Given the description of an element on the screen output the (x, y) to click on. 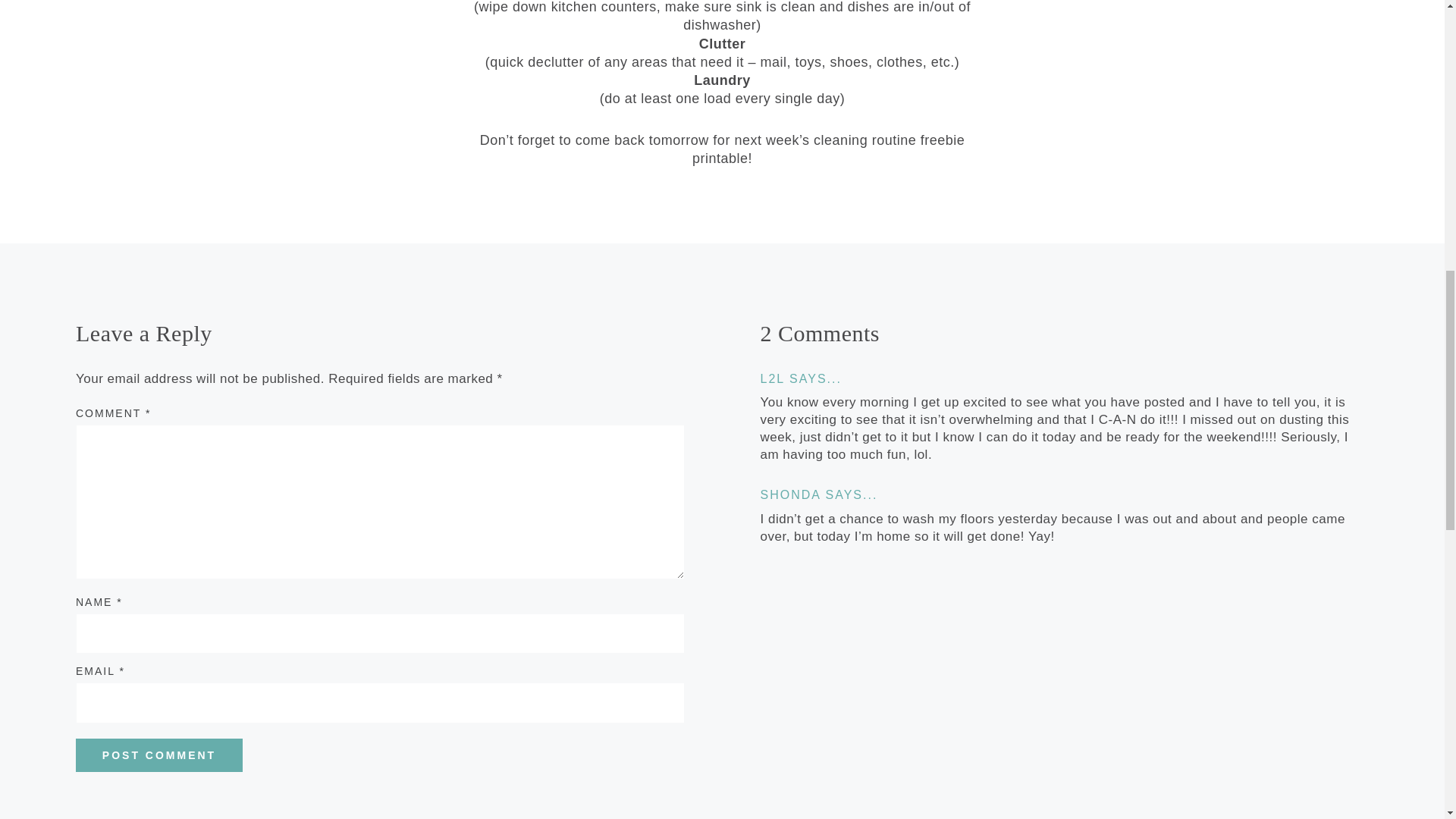
Post Comment (159, 755)
